Given the description of an element on the screen output the (x, y) to click on. 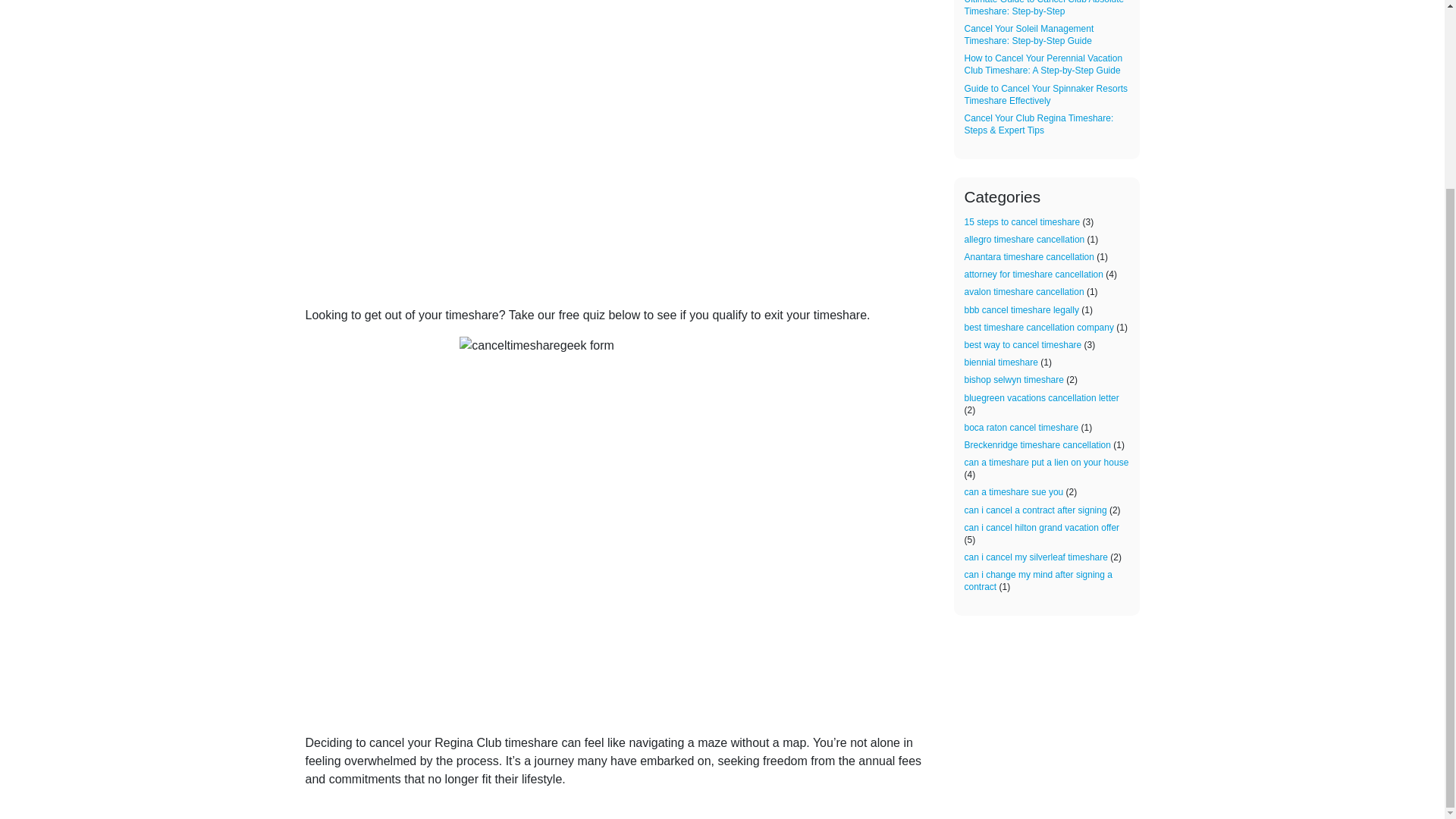
allegro timeshare cancellation (1023, 239)
Cancel Your Soleil Management Timeshare: Step-by-Step Guide (1028, 34)
Breckenridge timeshare cancellation (1036, 444)
Anantara timeshare cancellation (1028, 256)
best timeshare cancellation company (1038, 327)
Guide to Cancel Your Spinnaker Resorts Timeshare Effectively (1044, 94)
bbb cancel timeshare legally (1020, 309)
attorney for timeshare cancellation (1033, 274)
best way to cancel timeshare (1022, 344)
can a timeshare put a lien on your house (1046, 462)
avalon timeshare cancellation (1023, 291)
can i cancel hilton grand vacation offer (1041, 527)
can i cancel a contract after signing (1034, 510)
can a timeshare sue you (1013, 491)
